Given the description of an element on the screen output the (x, y) to click on. 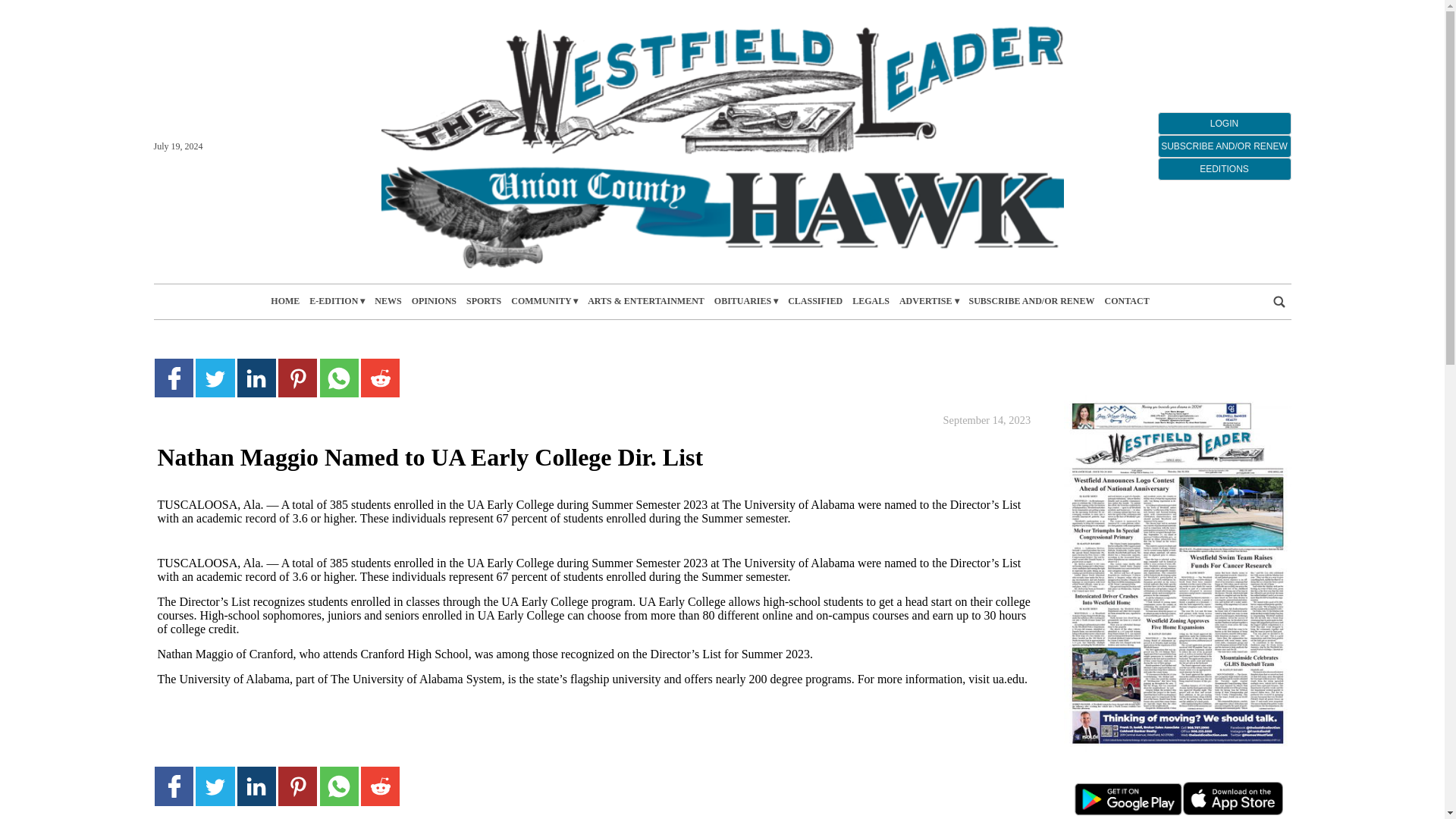
NEWS (387, 301)
HOME (285, 301)
ePaper (1176, 573)
EEDITIONS (1223, 169)
LOGIN (1223, 123)
E-EDITION (336, 301)
